Given the description of an element on the screen output the (x, y) to click on. 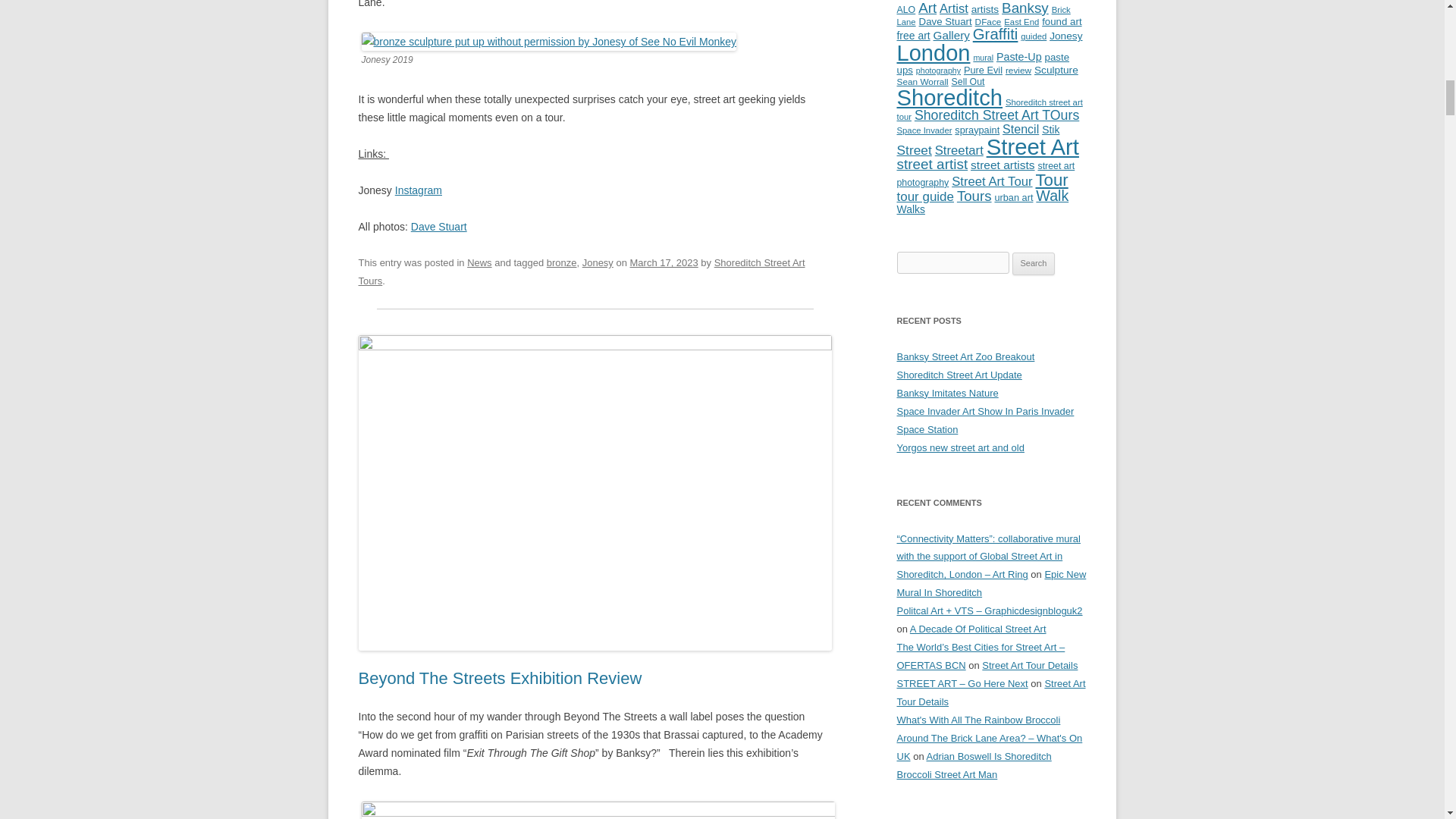
Jonesy (597, 262)
News (479, 262)
Permalink to Beyond The Streets Exhibition Review (500, 678)
11:31 (664, 262)
Instagram (418, 190)
bronze (561, 262)
Search (1033, 263)
Dave Stuart (438, 226)
View all posts by Shoreditch Street Art Tours (581, 271)
